Given the description of an element on the screen output the (x, y) to click on. 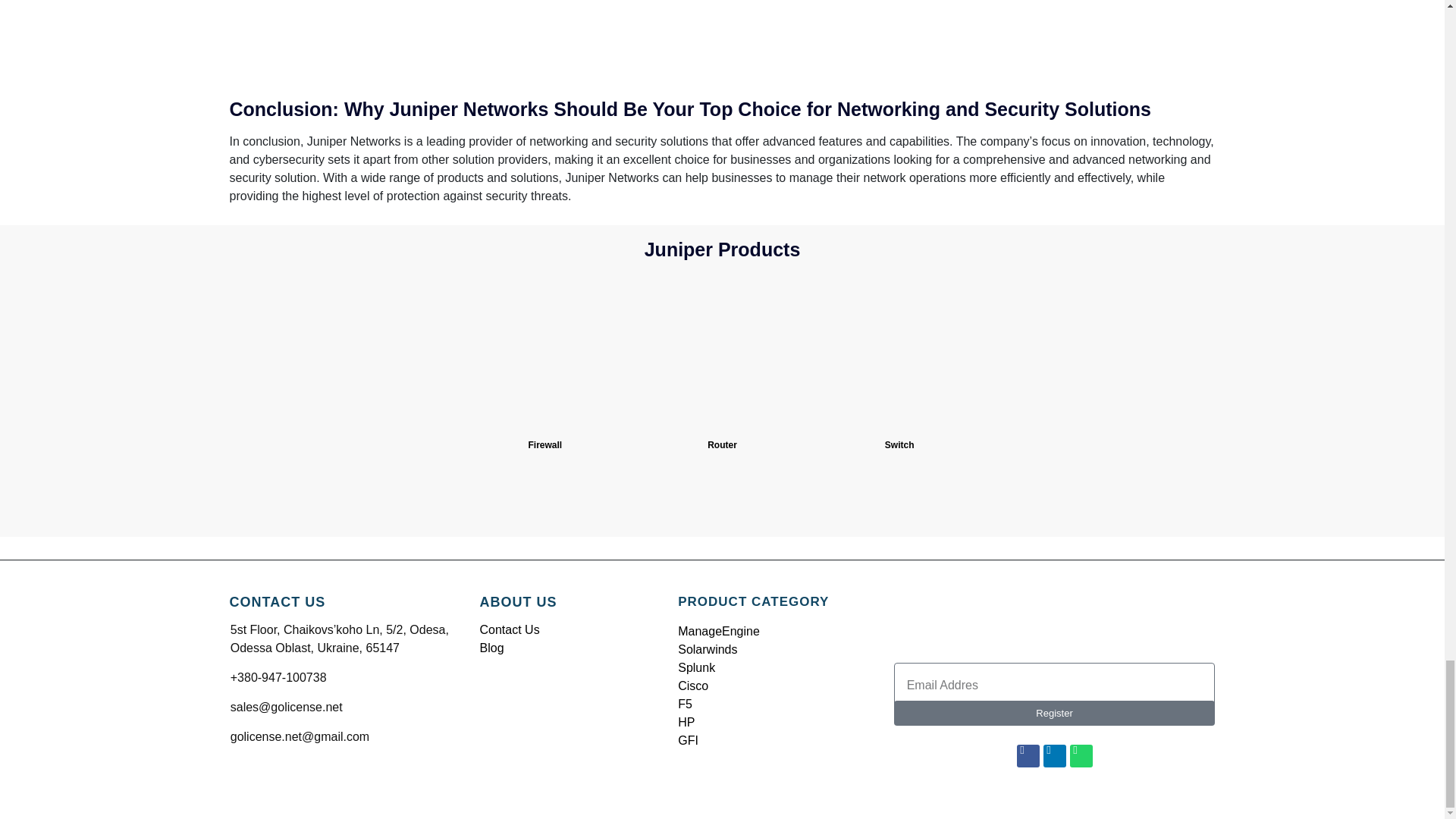
ManageEngine (719, 631)
Cisco (692, 685)
Blog (491, 647)
Splunk (696, 667)
HP (686, 721)
Register (1054, 713)
GFI (688, 739)
Contact Us (508, 629)
F5 (685, 703)
Solarwinds (707, 649)
